Given the description of an element on the screen output the (x, y) to click on. 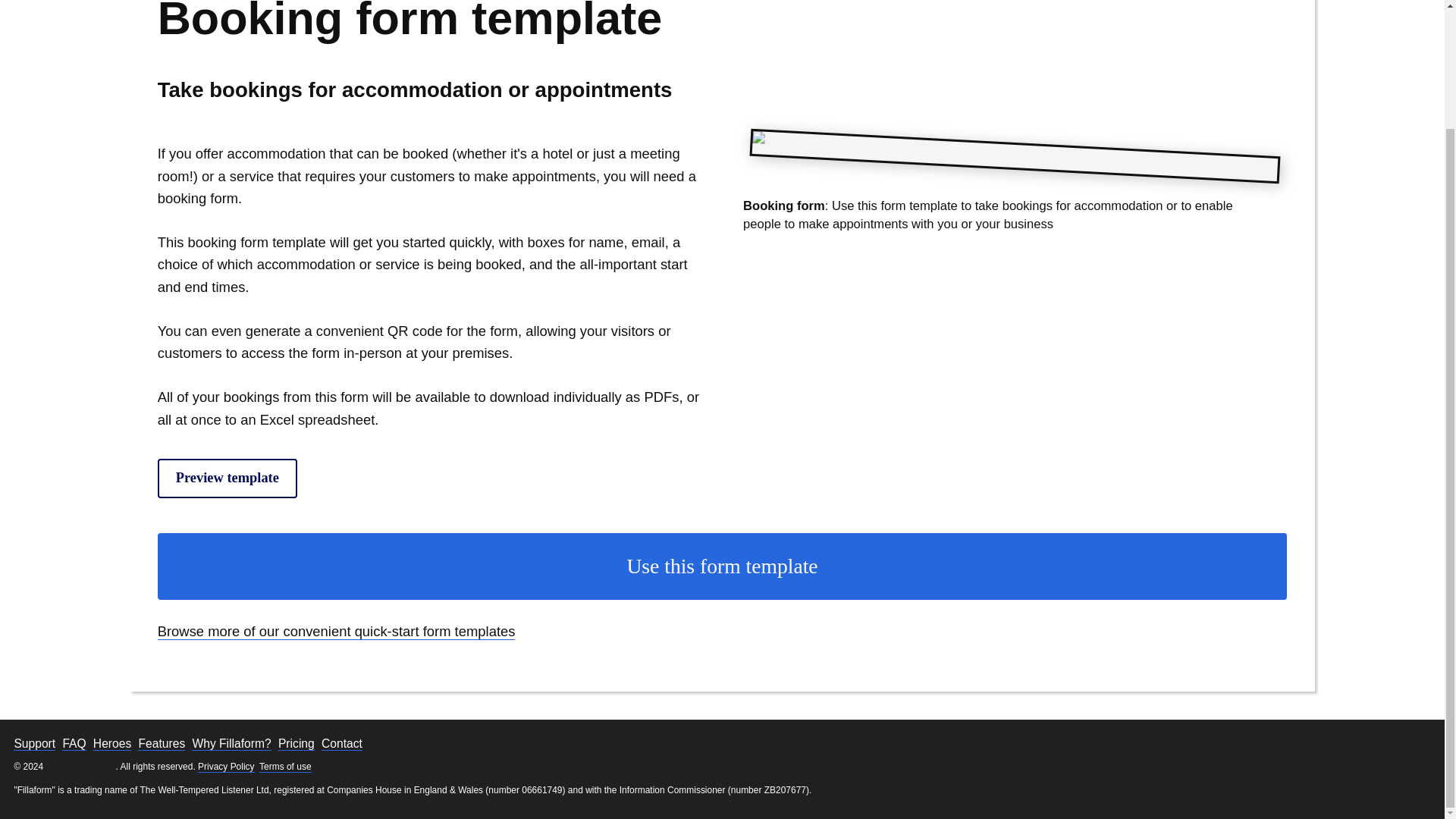
Preview template (227, 477)
Use this form template (722, 565)
Browse more of our convenient quick-start form templates (336, 631)
Contact (341, 744)
FAQ (73, 744)
Support (34, 744)
Pricing (296, 744)
Terms of use (285, 767)
Privacy Policy (226, 767)
FILLAFORM (81, 768)
Heroes (112, 744)
Features (161, 744)
Why Fillaform? (231, 744)
